Given the description of an element on the screen output the (x, y) to click on. 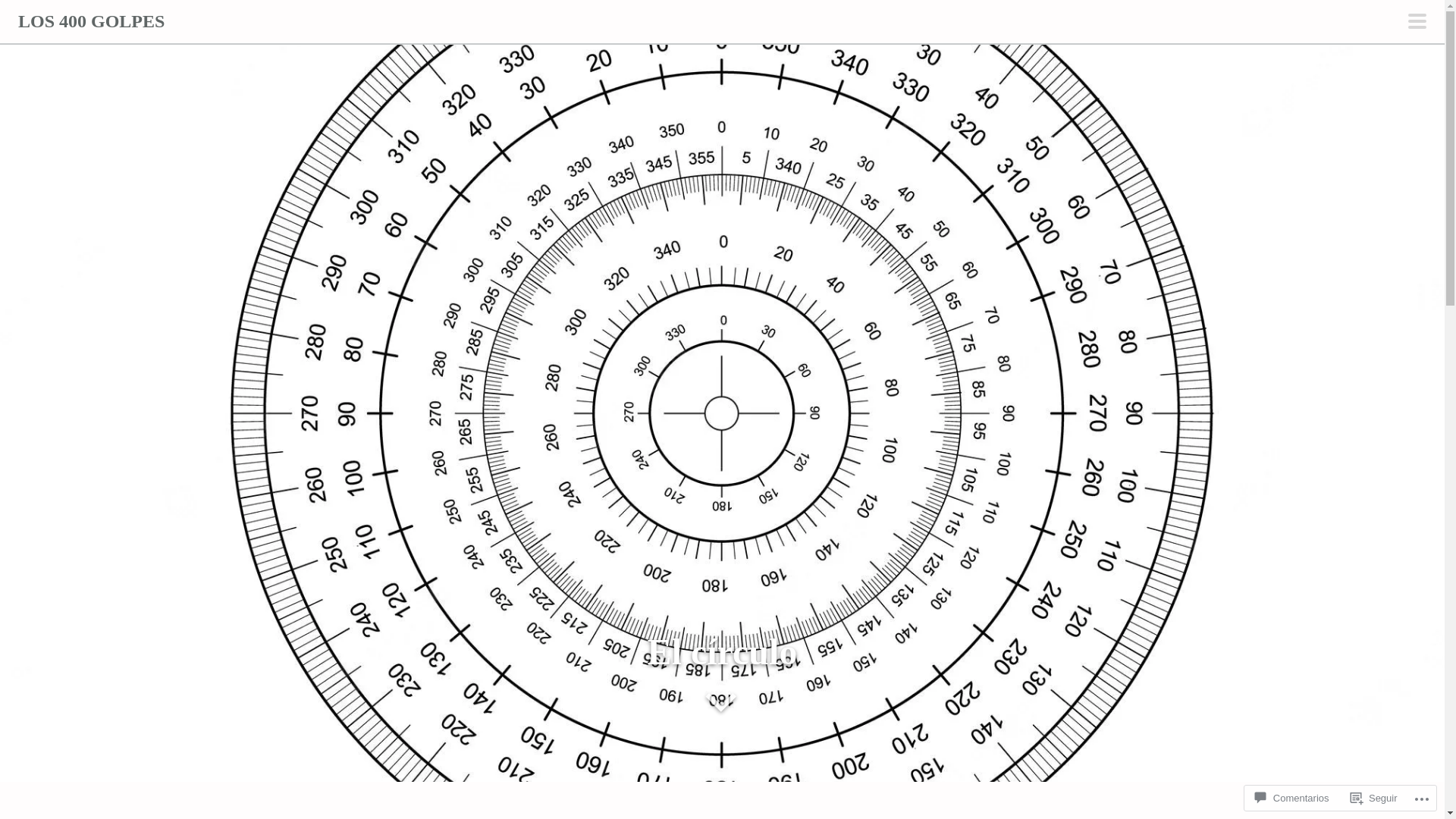
Seguir Element type: text (1373, 797)
Comentarios Element type: text (1291, 797)
LOS 400 GOLPES Element type: text (91, 21)
